Given the description of an element on the screen output the (x, y) to click on. 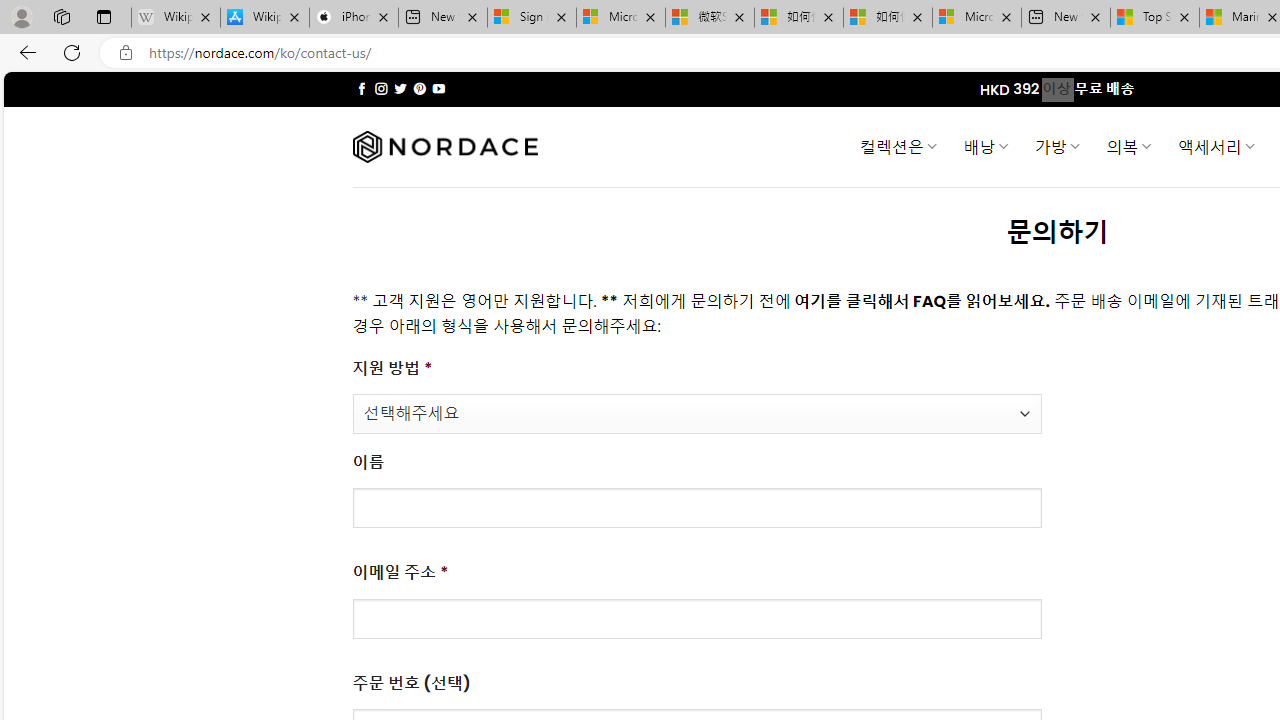
Follow on Facebook (361, 88)
Top Stories - MSN (1155, 17)
Wikipedia - Sleeping (175, 17)
